Given the description of an element on the screen output the (x, y) to click on. 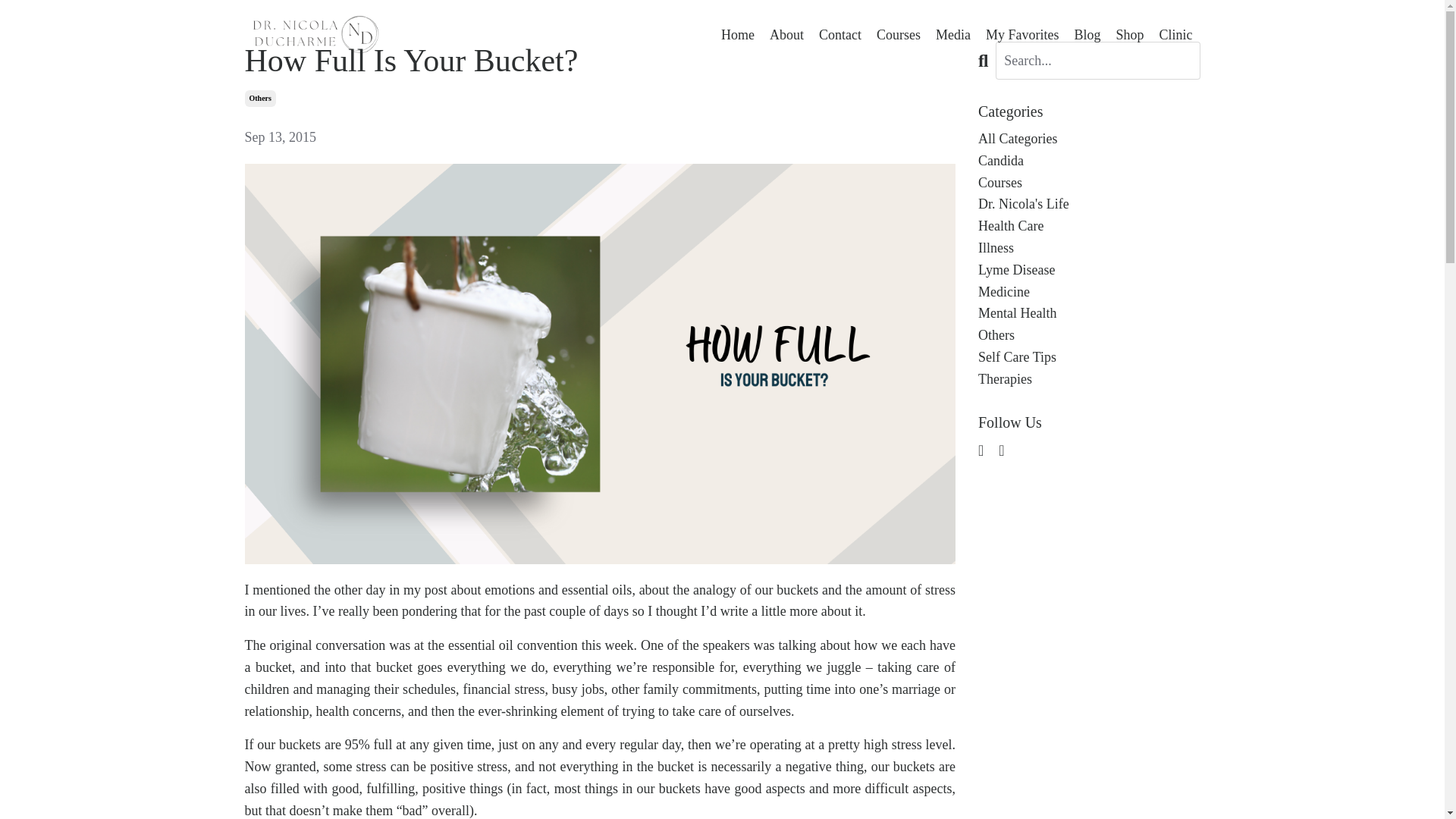
All Categories (1088, 138)
Courses (1088, 182)
Medicine (1088, 292)
Shop (1128, 34)
Home (737, 34)
About (786, 34)
Courses (898, 34)
Media (953, 34)
Contact (839, 34)
Blog (1087, 34)
